Given the description of an element on the screen output the (x, y) to click on. 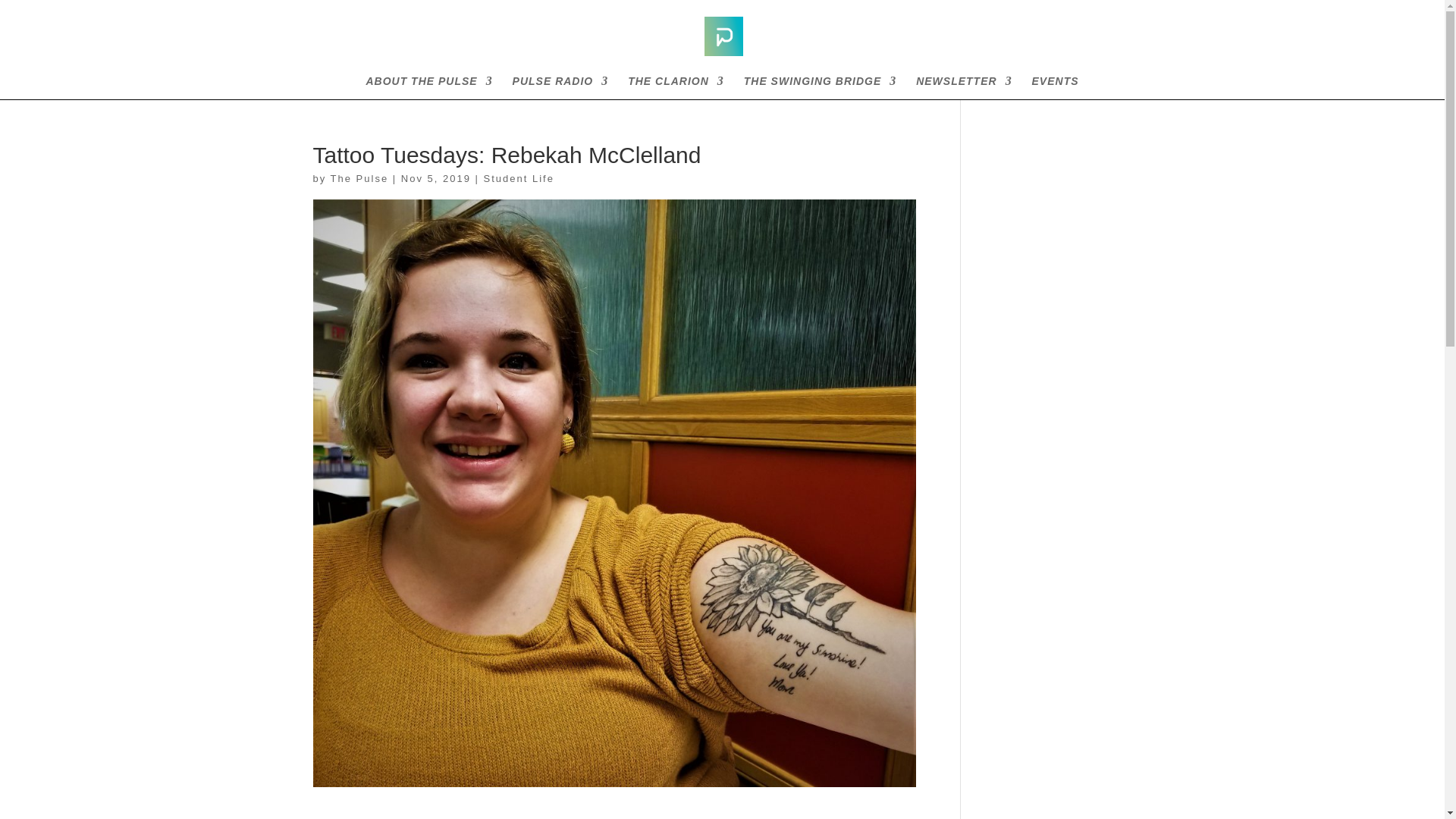
Posts by The Pulse (359, 178)
EVENTS (1055, 87)
THE SWINGING BRIDGE (820, 87)
NEWSLETTER (963, 87)
PULSE RADIO (560, 87)
THE CLARION (675, 87)
ABOUT THE PULSE (428, 87)
